Given the description of an element on the screen output the (x, y) to click on. 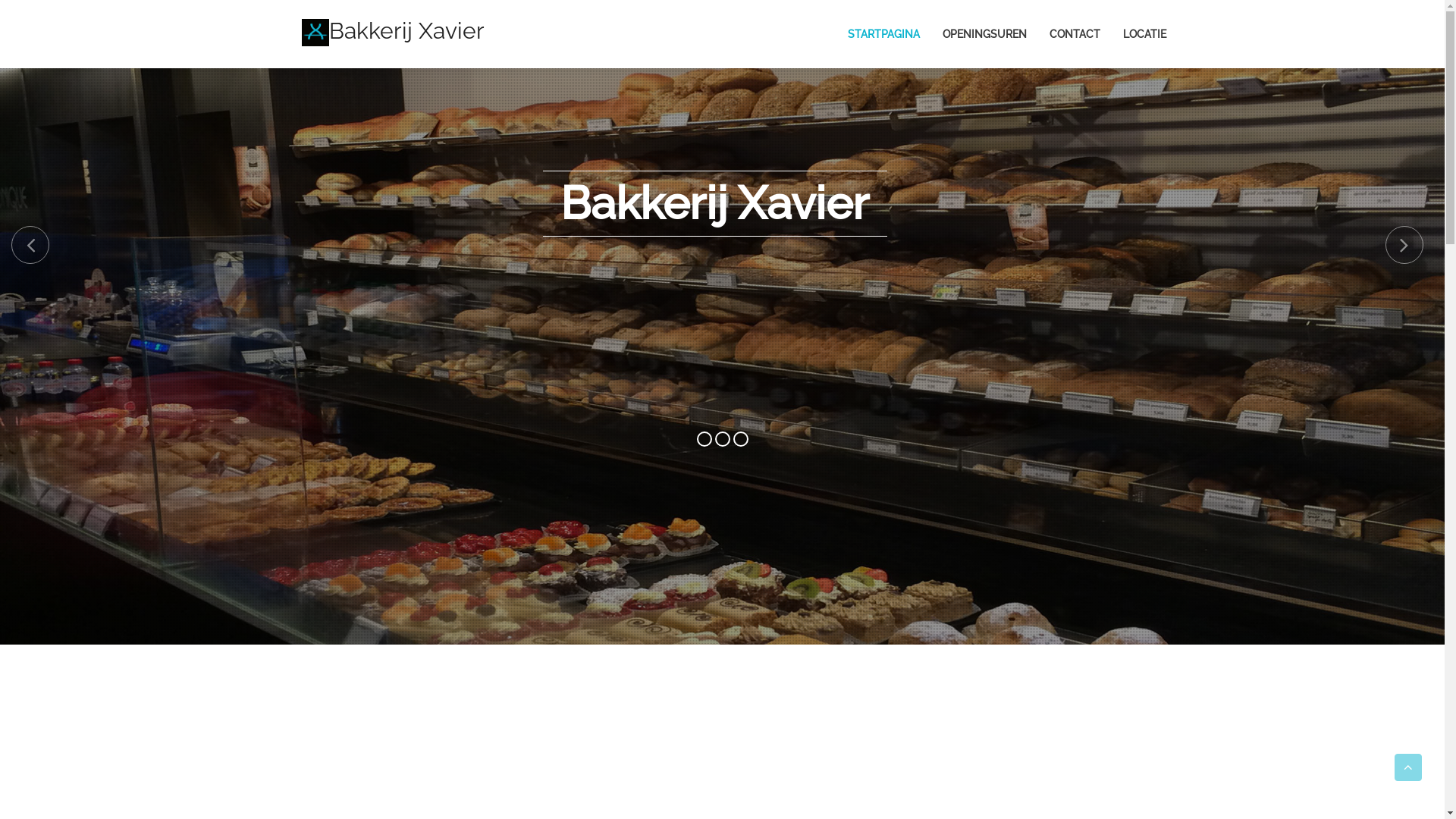
LOCATIE Element type: text (1132, 33)
Back to Top Element type: hover (1407, 767)
STARTPAGINA Element type: text (872, 33)
Bakkerij Xavier Element type: text (392, 26)
CONTACT Element type: text (1063, 33)
OPENINGSUREN Element type: text (972, 33)
